Given the description of an element on the screen output the (x, y) to click on. 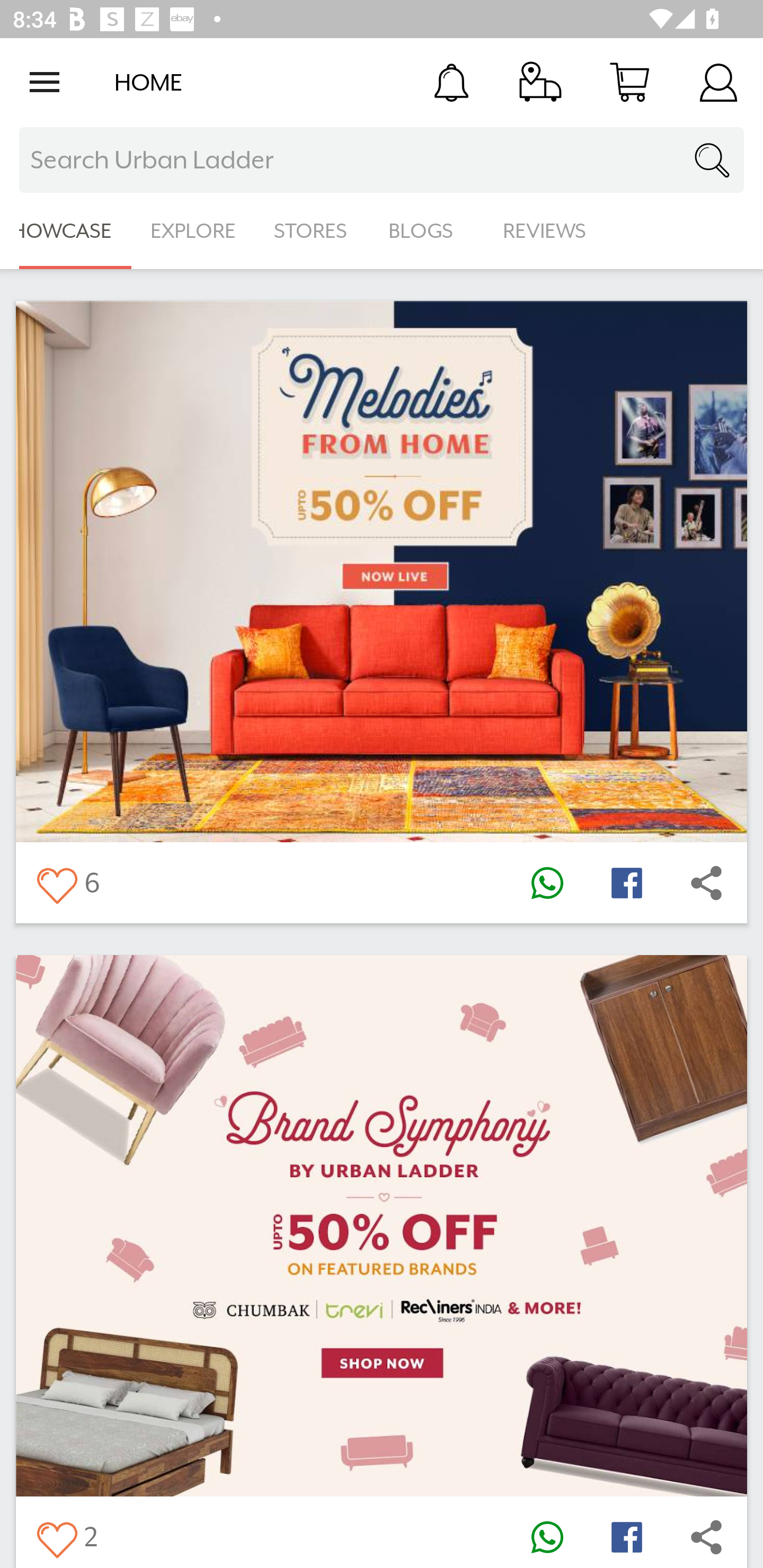
Open navigation drawer (44, 82)
Notification (450, 81)
Track Order (540, 81)
Cart (629, 81)
Account Details (718, 81)
Search Urban Ladder  (381, 159)
SHOWCASE (65, 230)
EXPLORE (192, 230)
STORES (311, 230)
BLOGS (426, 230)
REVIEWS (544, 230)
 (55, 882)
 (547, 882)
 (626, 882)
 (706, 882)
 (55, 1536)
 (547, 1536)
 (626, 1536)
 (706, 1536)
